Given the description of an element on the screen output the (x, y) to click on. 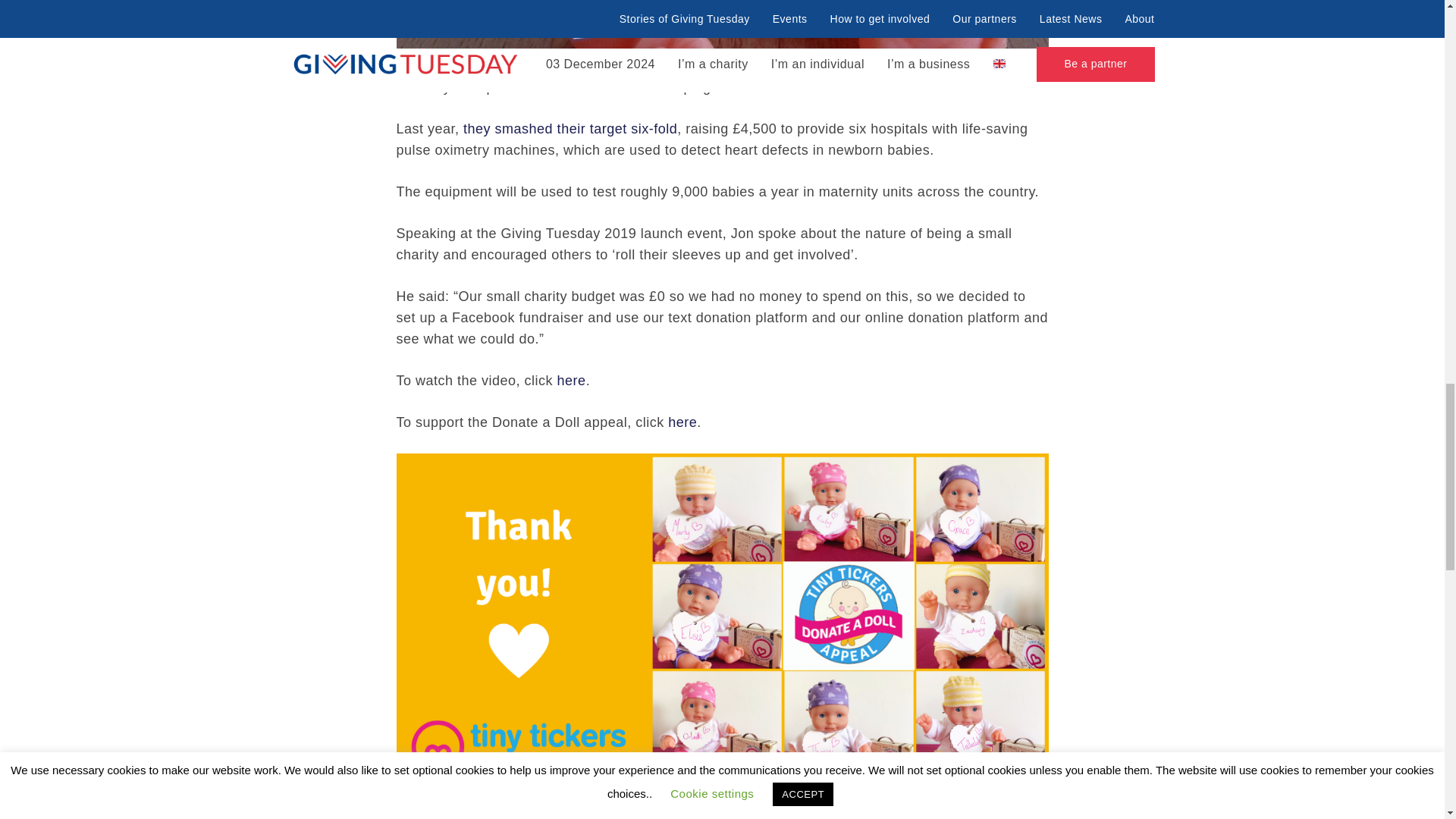
here (682, 421)
here (571, 380)
they smashed their target six-fold (570, 128)
